Given the description of an element on the screen output the (x, y) to click on. 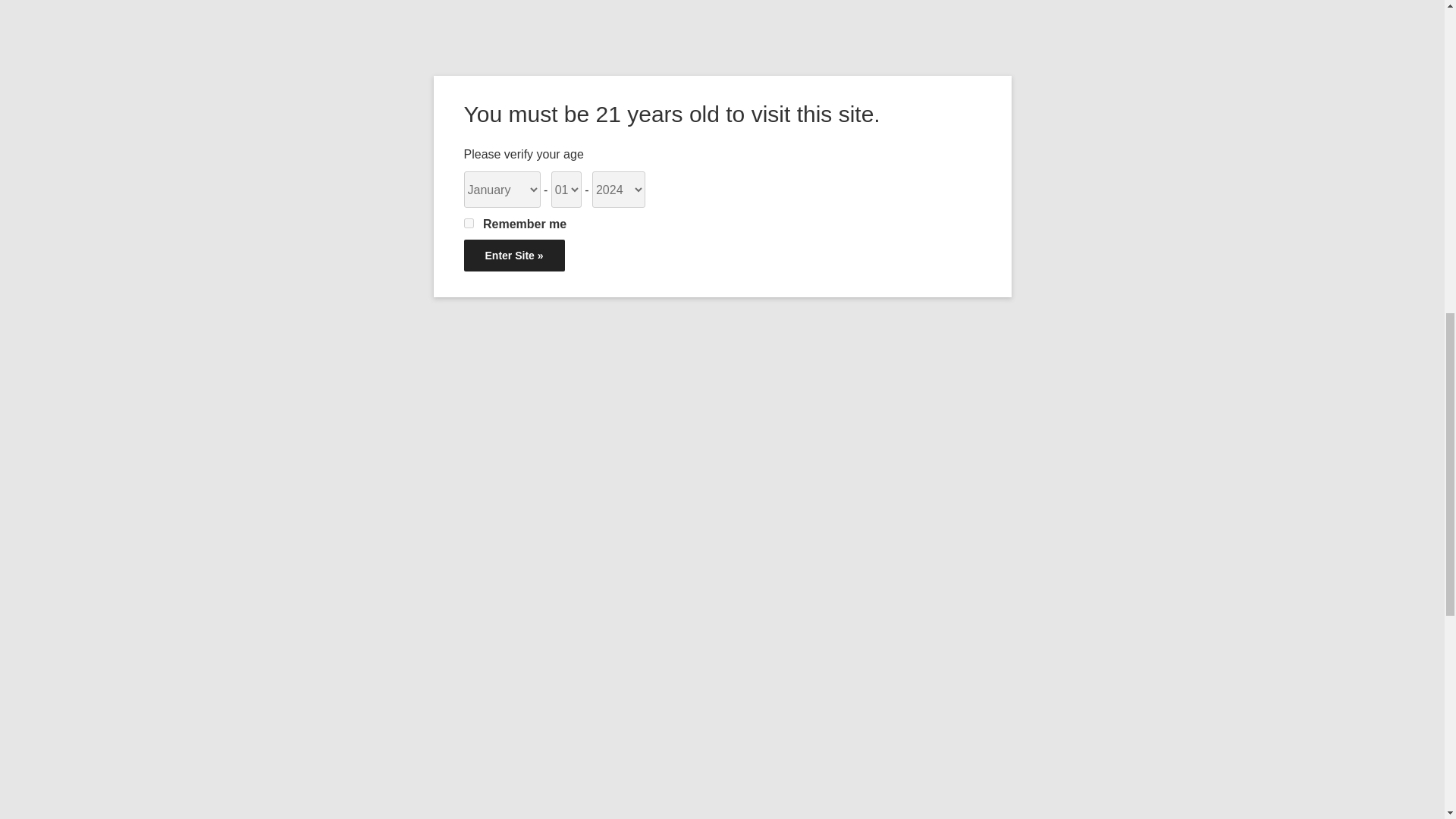
Post Comment (718, 603)
Learn how your comment data is processed (573, 655)
Post Comment (718, 603)
